Given the description of an element on the screen output the (x, y) to click on. 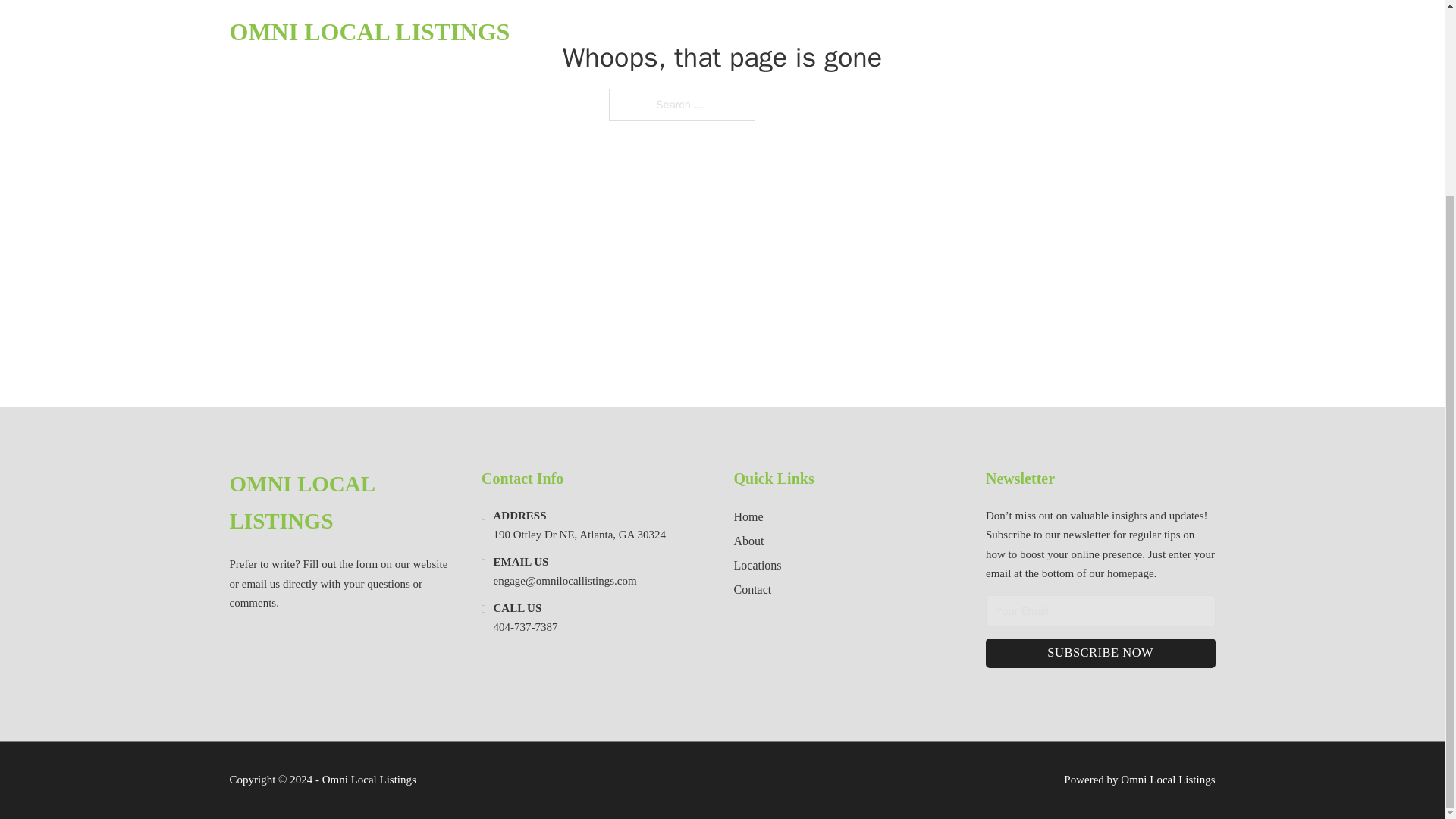
OMNI LOCAL LISTINGS (343, 503)
About (748, 540)
SUBSCRIBE NOW (1100, 653)
404-737-7387 (525, 626)
Locations (757, 565)
Home (747, 516)
Contact (752, 589)
